Given the description of an element on the screen output the (x, y) to click on. 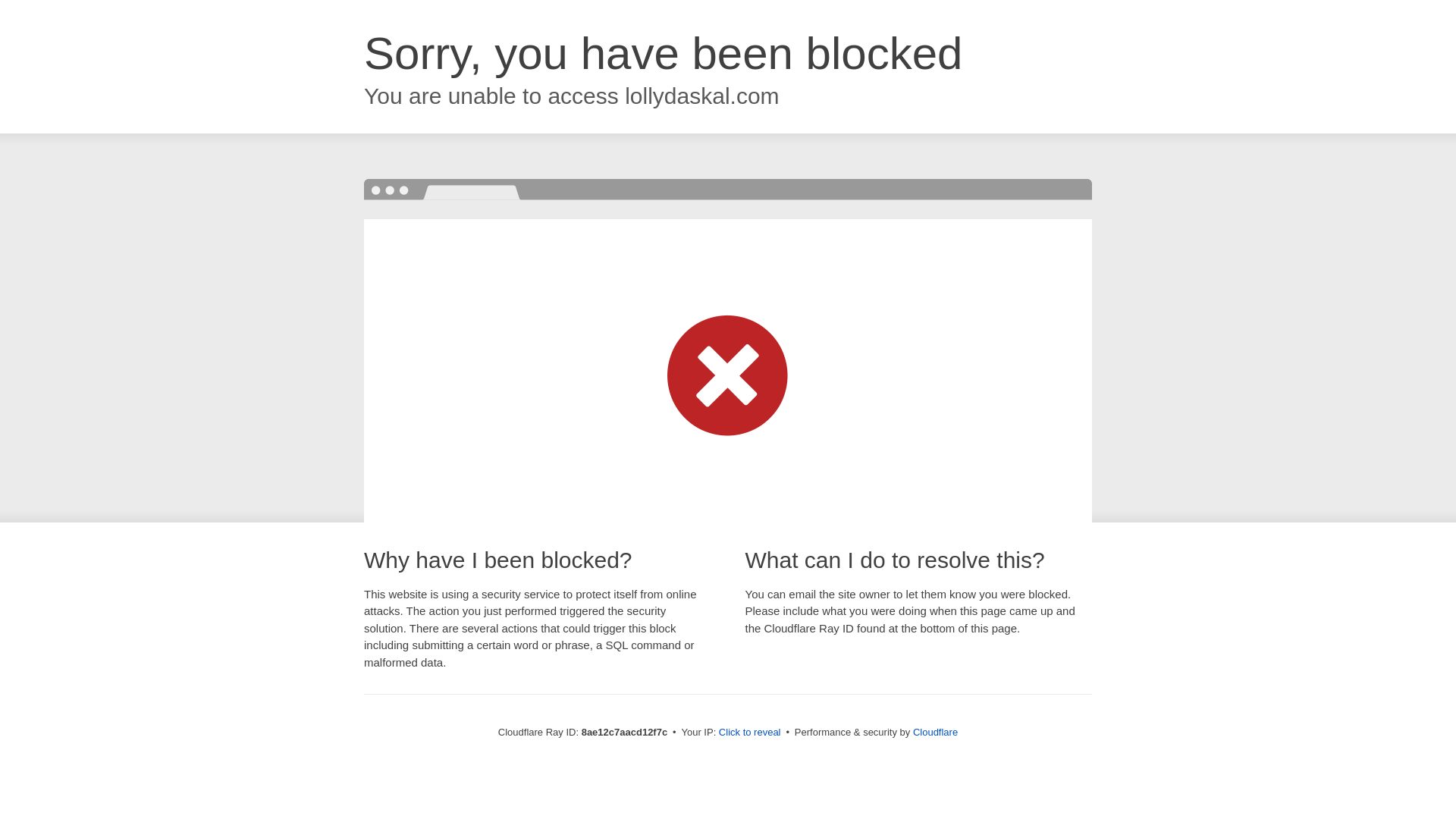
Cloudflare (935, 731)
Click to reveal (749, 732)
